Given the description of an element on the screen output the (x, y) to click on. 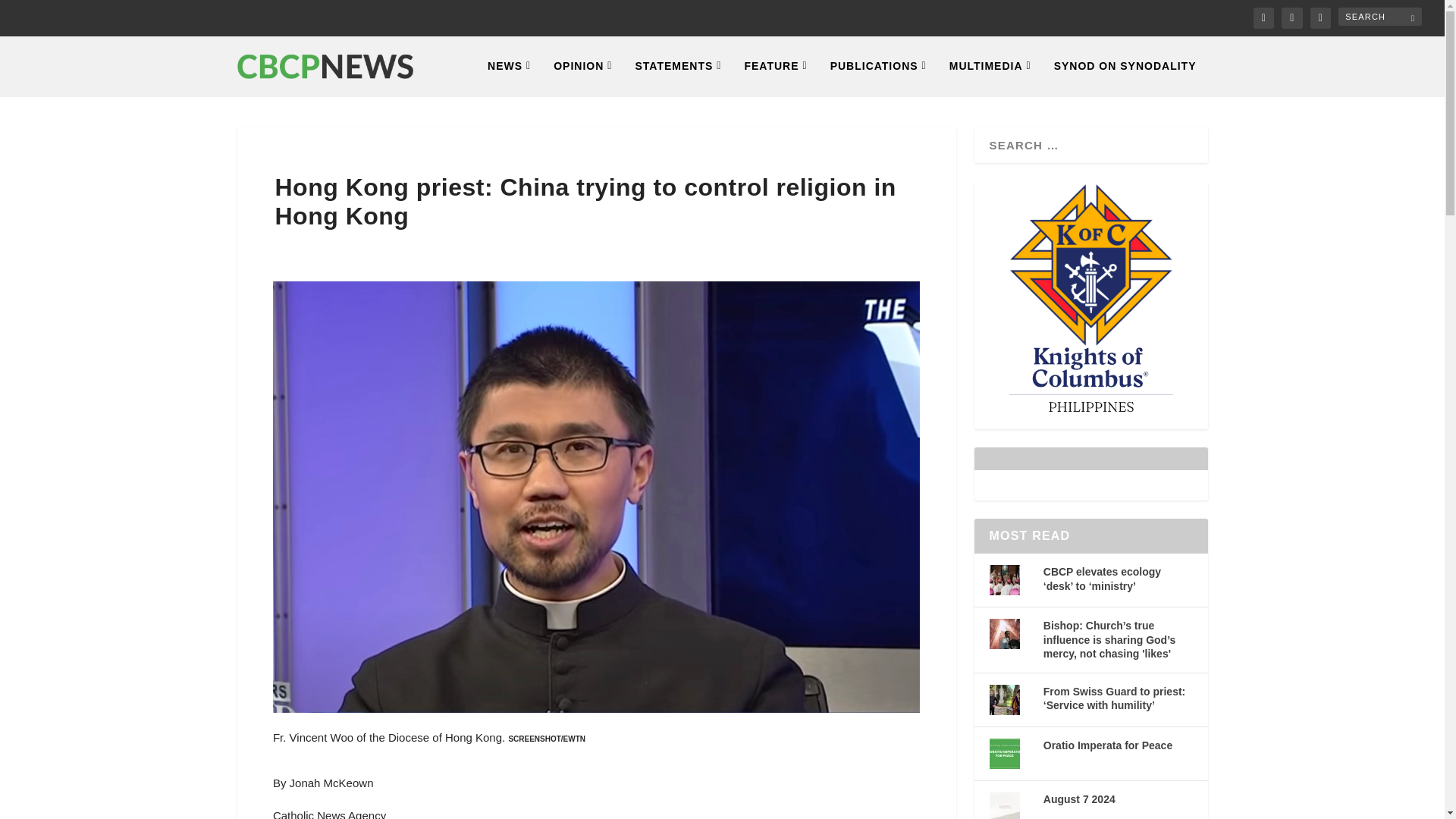
PUBLICATIONS (877, 77)
FEATURE (775, 77)
STATEMENTS (677, 77)
Search for: (1380, 16)
NEWS (509, 77)
OPINION (582, 77)
